Given the description of an element on the screen output the (x, y) to click on. 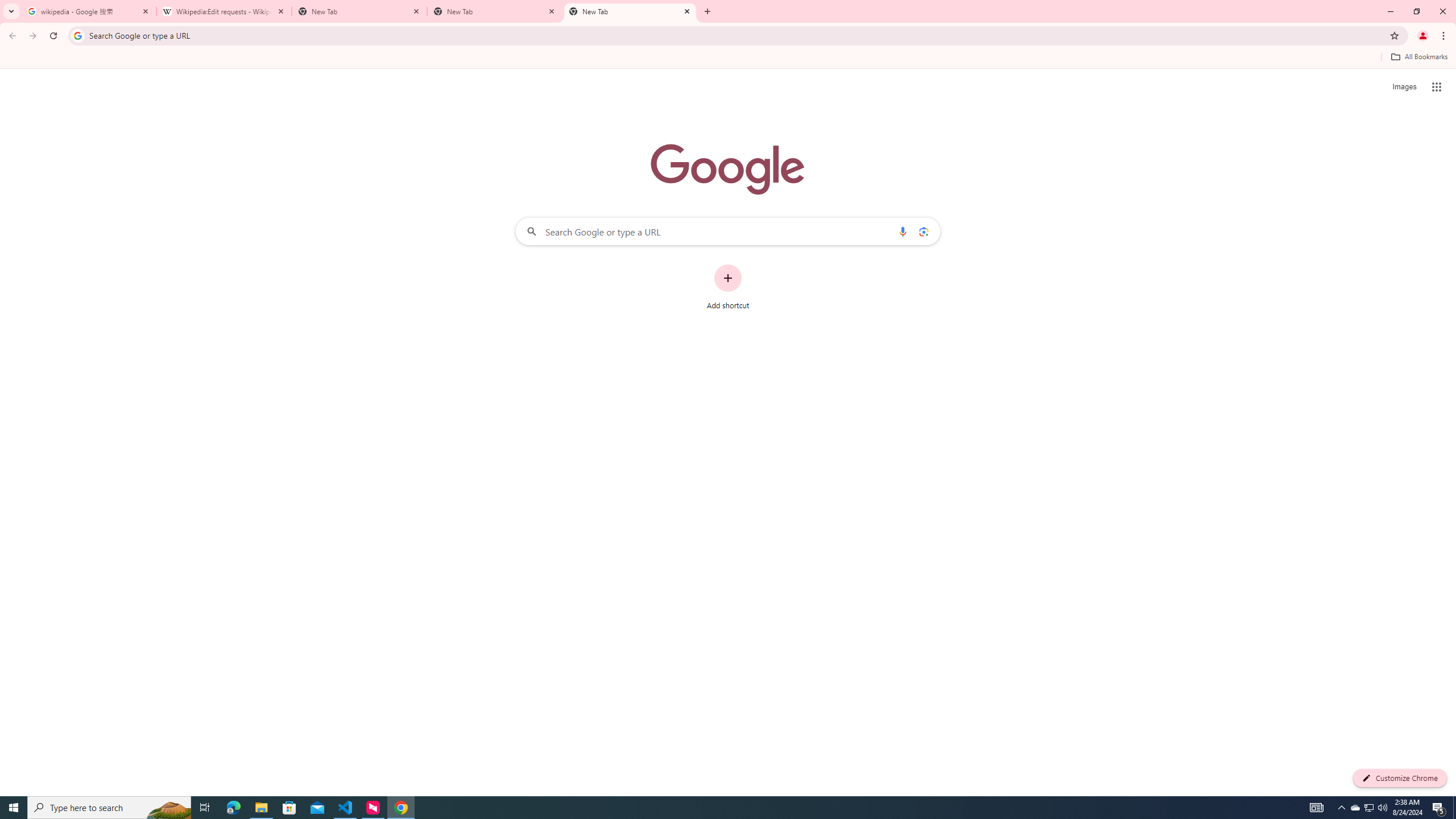
Search Google or type a URL (727, 230)
Wikipedia:Edit requests - Wikipedia (224, 11)
Add shortcut (727, 287)
